Given the description of an element on the screen output the (x, y) to click on. 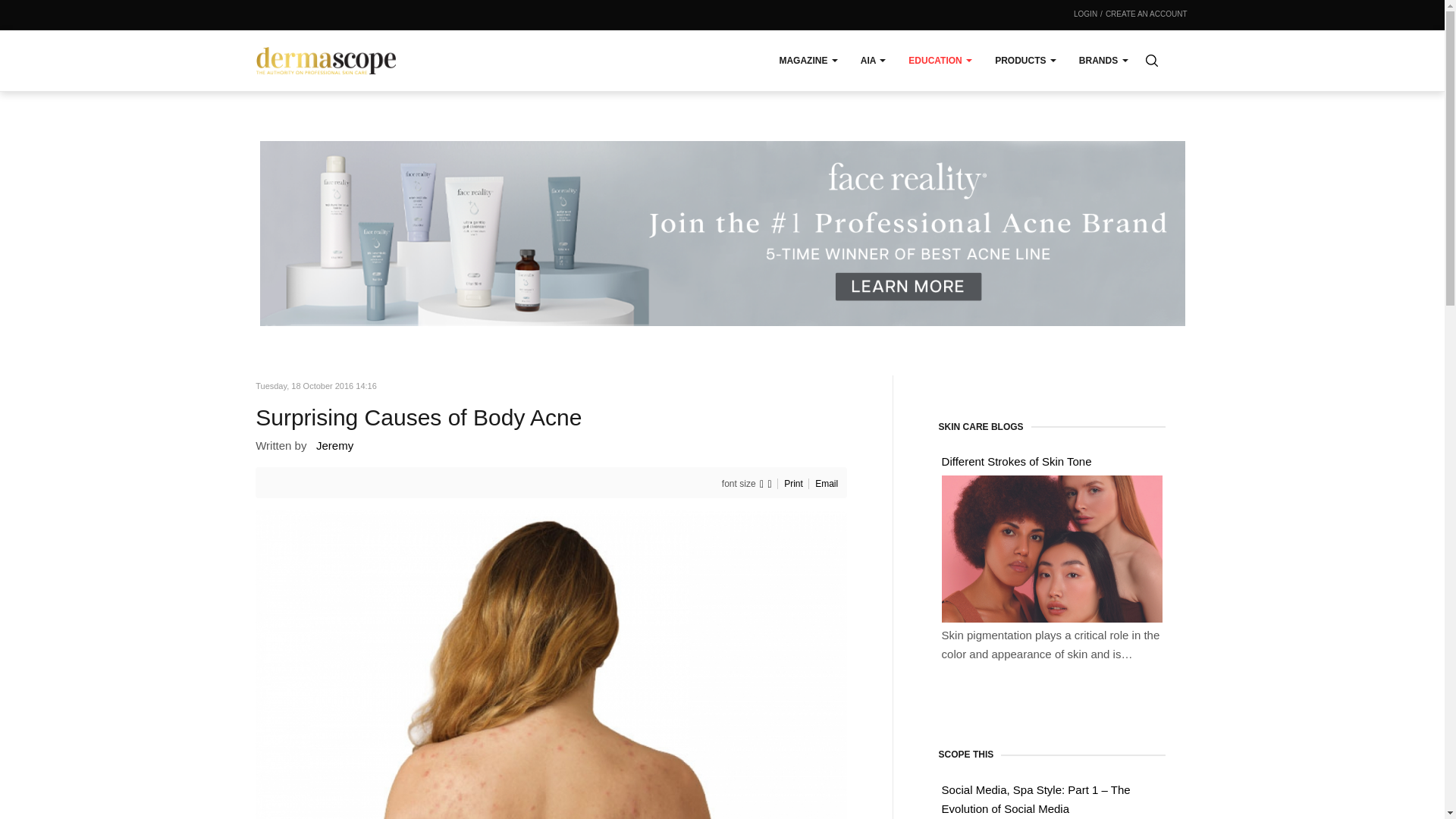
DERMASCOPE (326, 60)
EDUCATION (940, 60)
Click to preview image (551, 748)
MAGAZINE (807, 60)
LOGIN (1085, 15)
search... (1149, 60)
Login (1085, 15)
search... (1149, 60)
CREATE AN ACCOUNT (1146, 15)
